Given the description of an element on the screen output the (x, y) to click on. 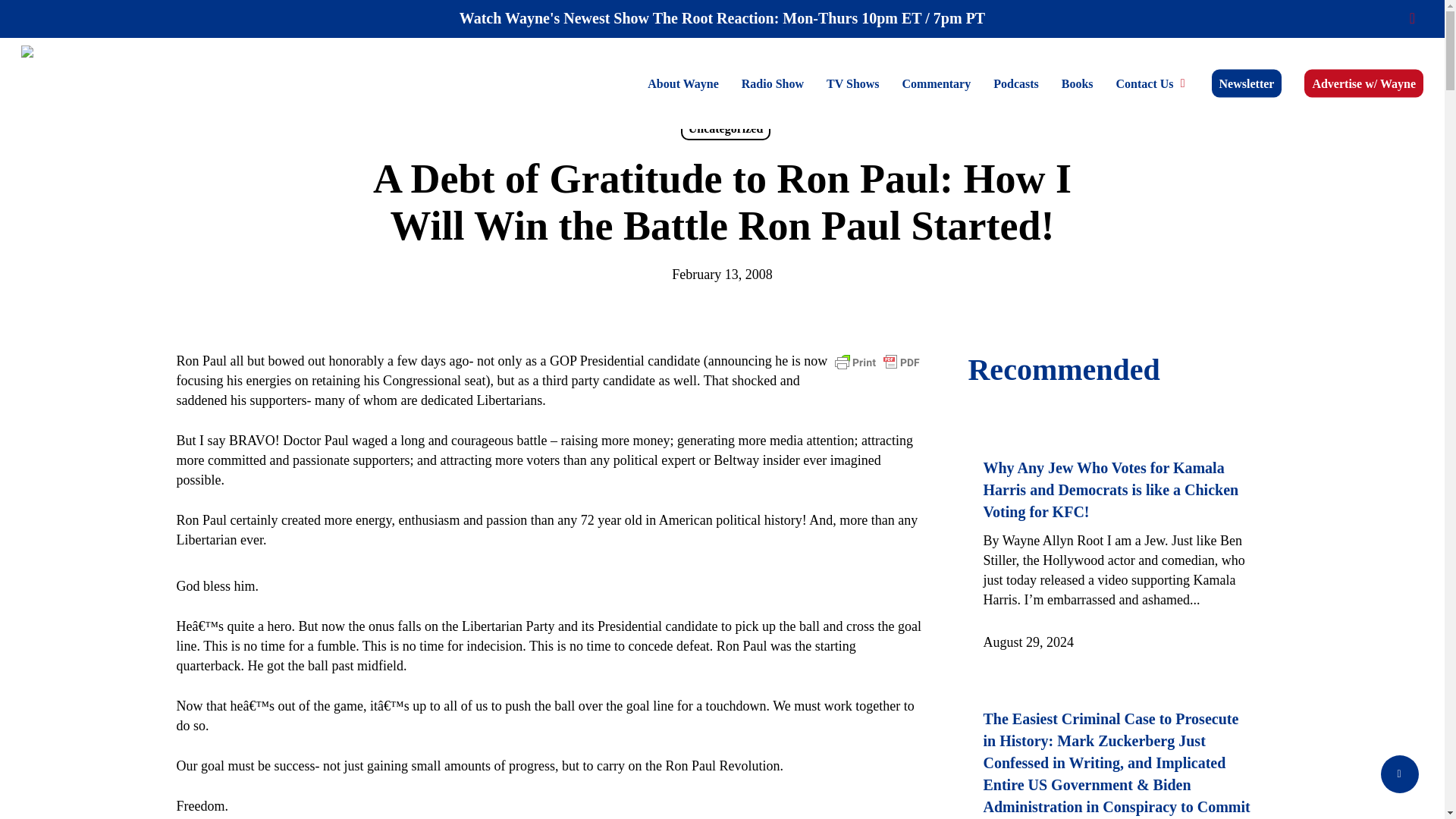
Contact Us (1152, 82)
Commentary (936, 82)
About Wayne (683, 82)
Podcasts (1015, 82)
Uncategorized (726, 128)
Books (1077, 82)
Newsletter (1246, 82)
TV Shows (853, 82)
Radio Show (772, 82)
